Given the description of an element on the screen output the (x, y) to click on. 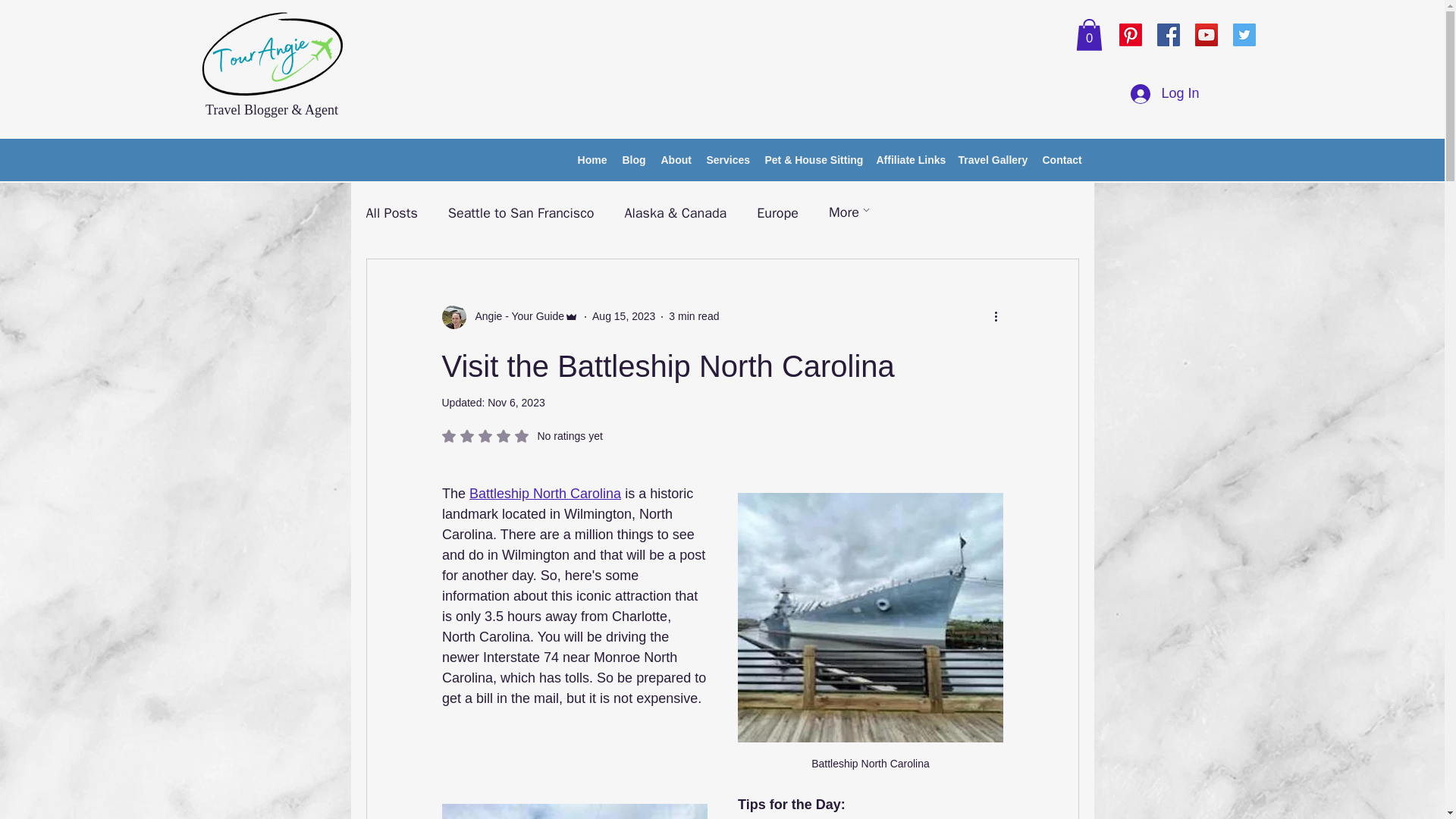
Blog (633, 159)
Europe (777, 212)
All Posts (390, 212)
Log In (1164, 93)
On the deck (573, 806)
Home (592, 159)
Battleship North Carolina (521, 436)
About (544, 493)
Angie - Your Guide (675, 159)
